Given the description of an element on the screen output the (x, y) to click on. 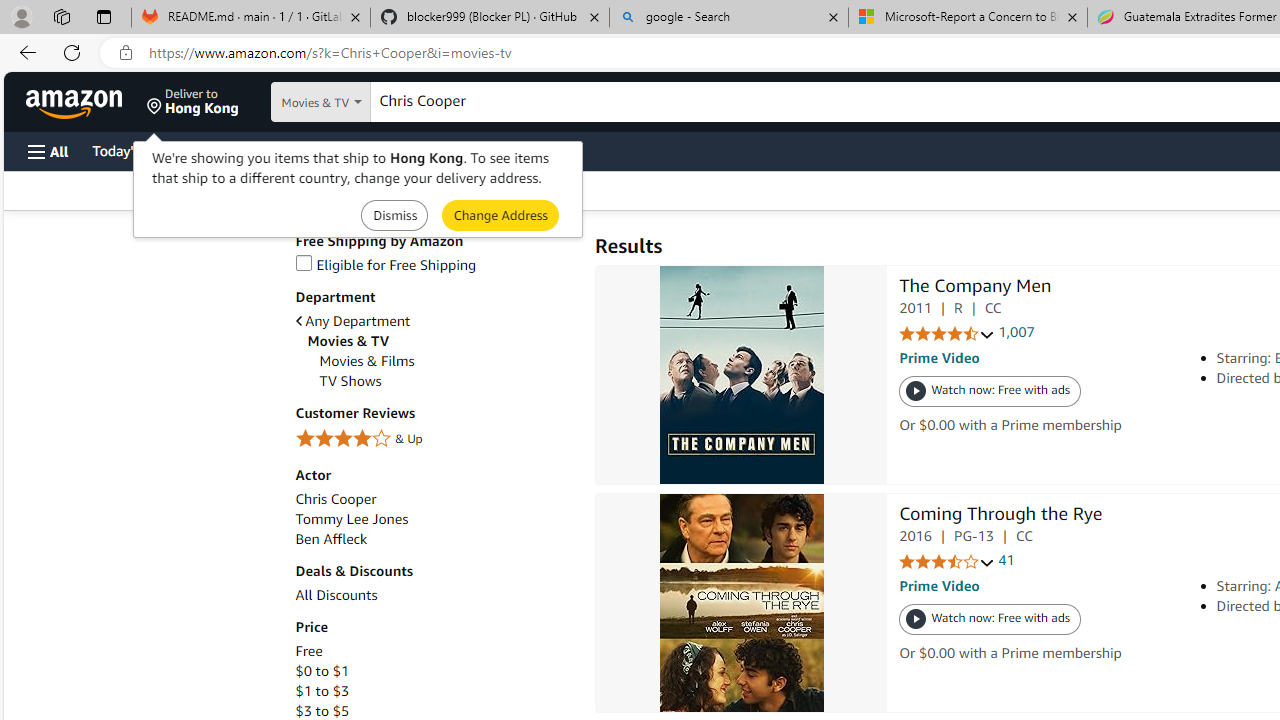
Open Menu (48, 151)
1,007 (1016, 332)
The Company Men (741, 375)
The Company Men (975, 287)
Tommy Lee Jones (434, 519)
Movies & Films (366, 361)
Eligible for Free Shipping (385, 264)
Submit (499, 214)
Any Department (434, 321)
$1 to $3 (434, 691)
